Given the description of an element on the screen output the (x, y) to click on. 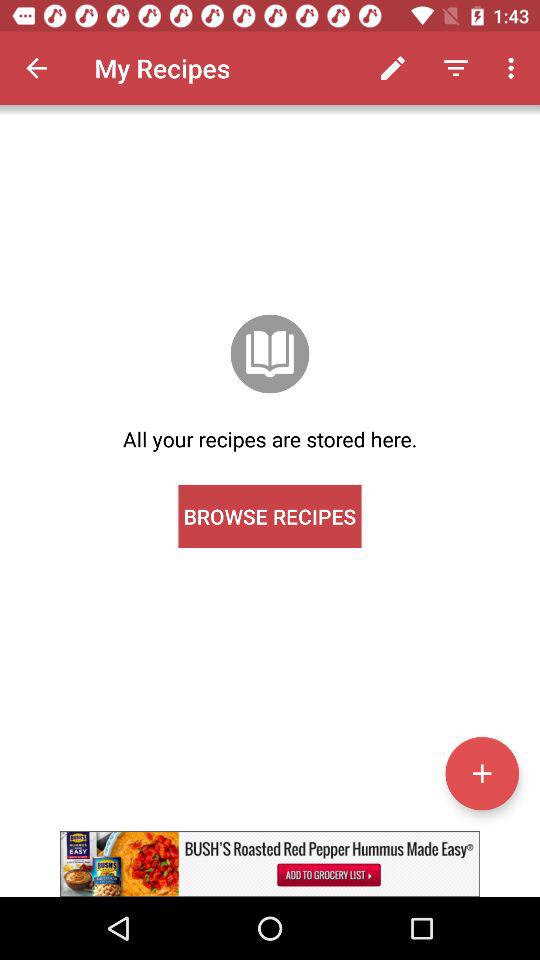
advertisement (270, 864)
